Given the description of an element on the screen output the (x, y) to click on. 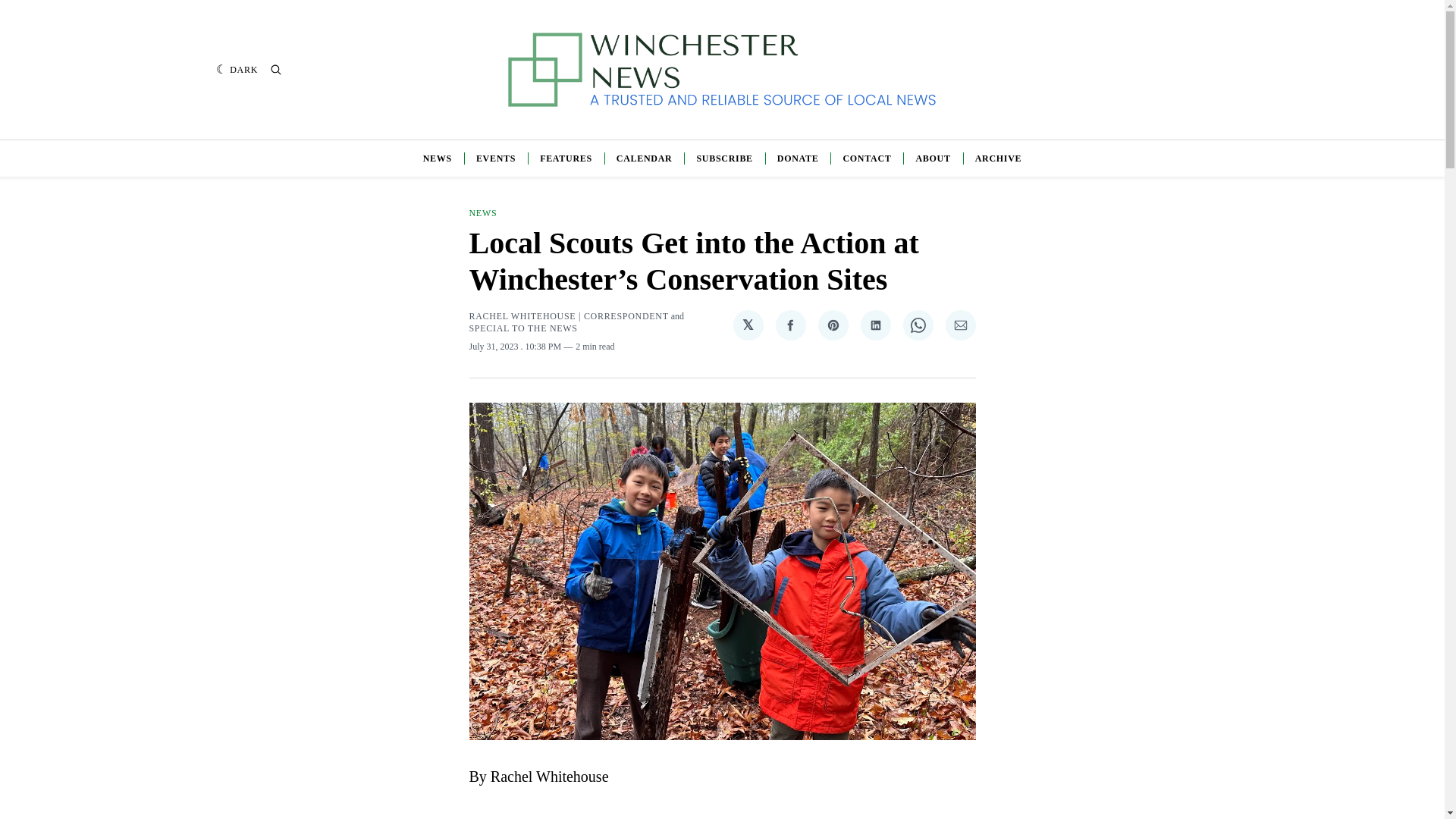
Share on LinkedIn (874, 325)
EVENTS (495, 158)
NEWS (482, 213)
Share via Email (959, 325)
Share on WhatsApp (917, 325)
FEATURES (566, 158)
CONTACT (867, 158)
NEWS (437, 158)
DONATE (797, 158)
SUBSCRIBE (723, 158)
